Given the description of an element on the screen output the (x, y) to click on. 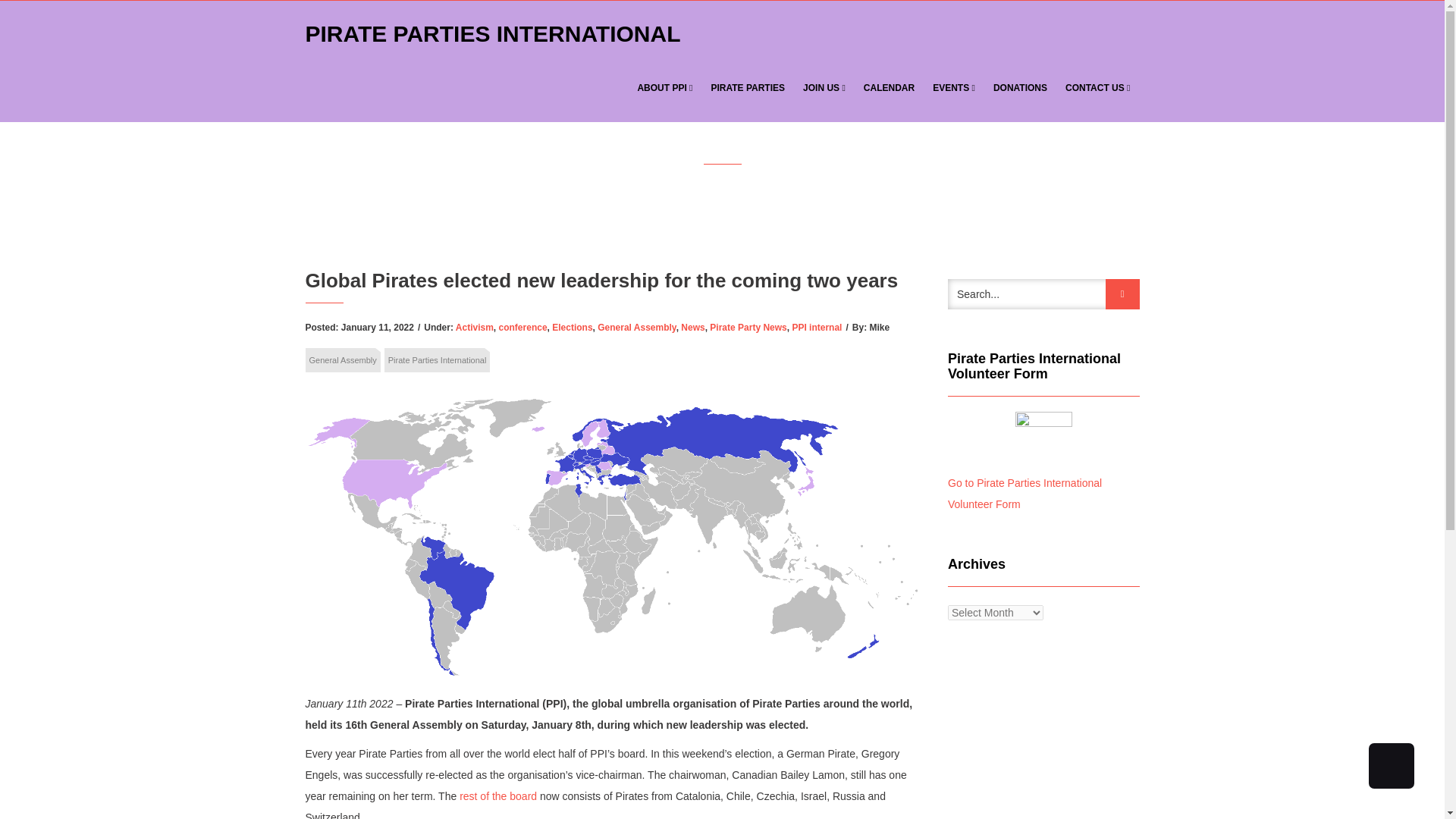
PIRATE PARTIES (747, 88)
Activism (474, 327)
CONTACT US (1098, 88)
Pirate Party News (748, 327)
DONATIONS (1020, 88)
PIRATE PARTIES INTERNATIONAL (493, 27)
CALENDAR (888, 88)
JOIN US (823, 88)
PIRATE PARTIES INTERNATIONAL (497, 27)
PPI internal (816, 327)
Search for: (1043, 294)
Pirate Parties International (437, 360)
rest of the board (498, 796)
conference (523, 327)
Elections (571, 327)
